Given the description of an element on the screen output the (x, y) to click on. 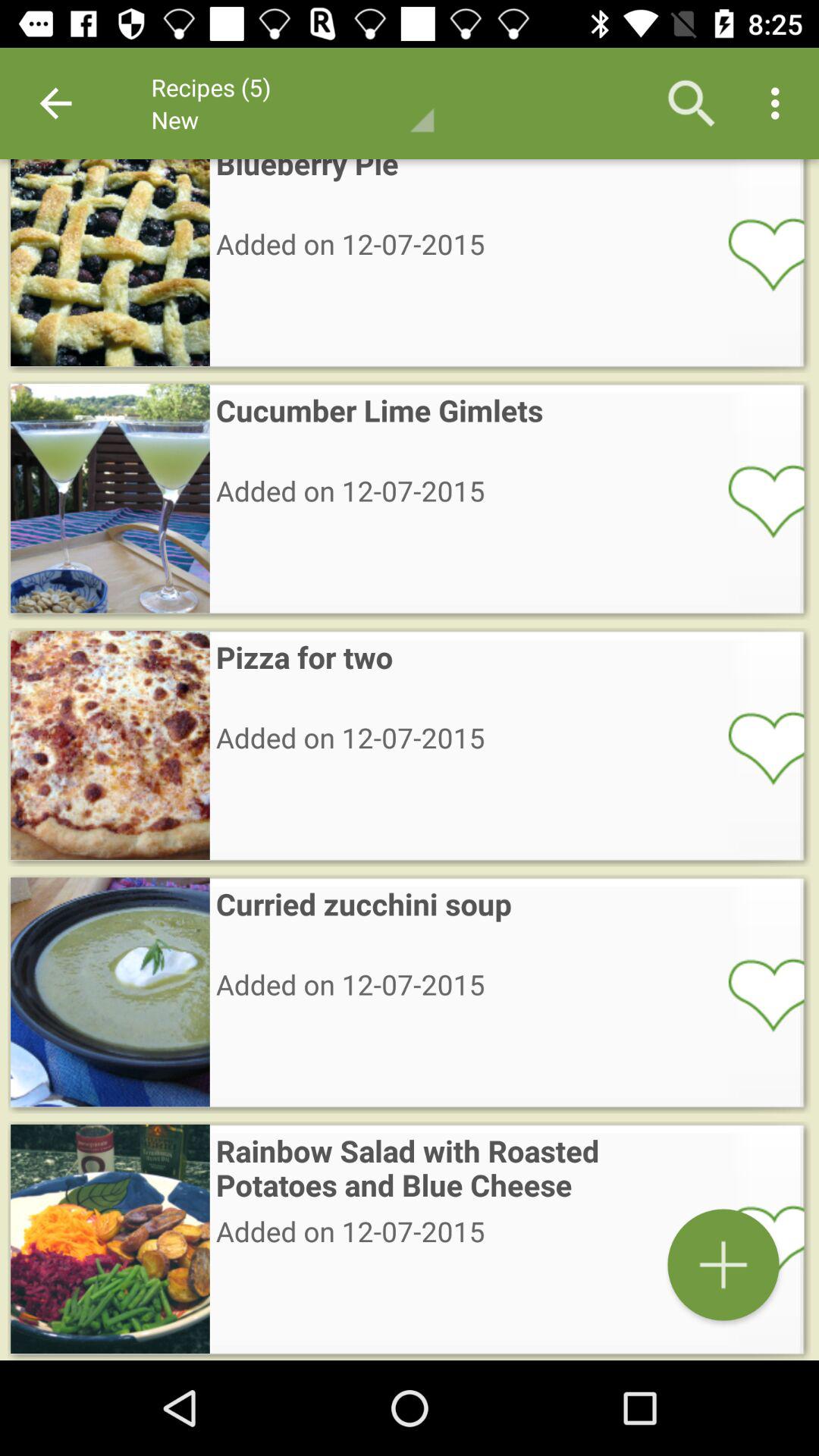
add to favorites (756, 747)
